Given the description of an element on the screen output the (x, y) to click on. 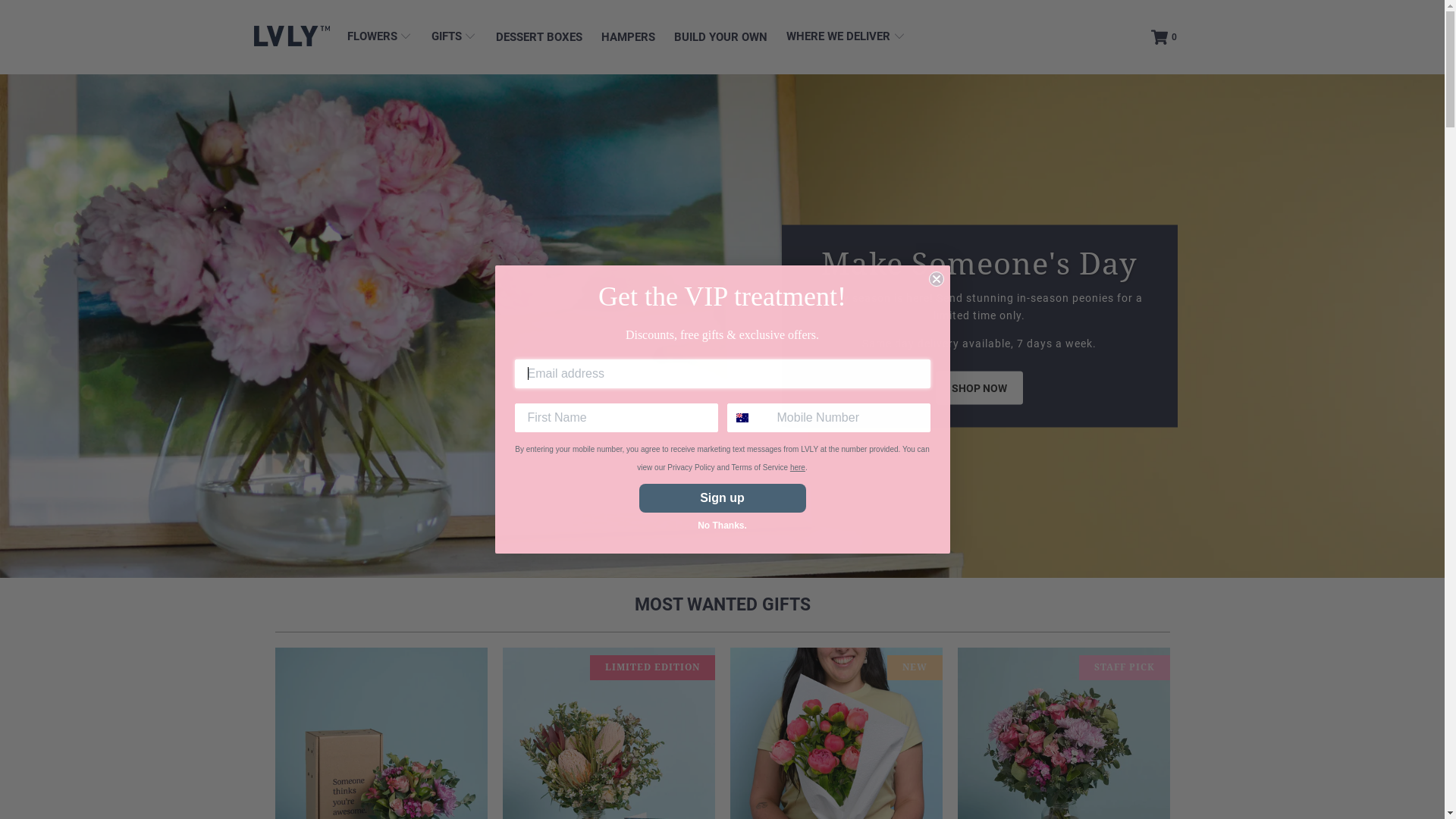
HAMPERS Element type: text (628, 37)
DESSERT BOXES Element type: text (538, 37)
SHOP NOW Element type: text (978, 387)
BUILD YOUR OWN Element type: text (720, 37)
0 Element type: text (1165, 36)
Submit Element type: text (26, 10)
Australia Element type: hover (741, 417)
Sign up Element type: text (721, 497)
here Element type: text (797, 467)
LVLY Element type: hover (291, 36)
No Thanks. Element type: text (722, 525)
